Given the description of an element on the screen output the (x, y) to click on. 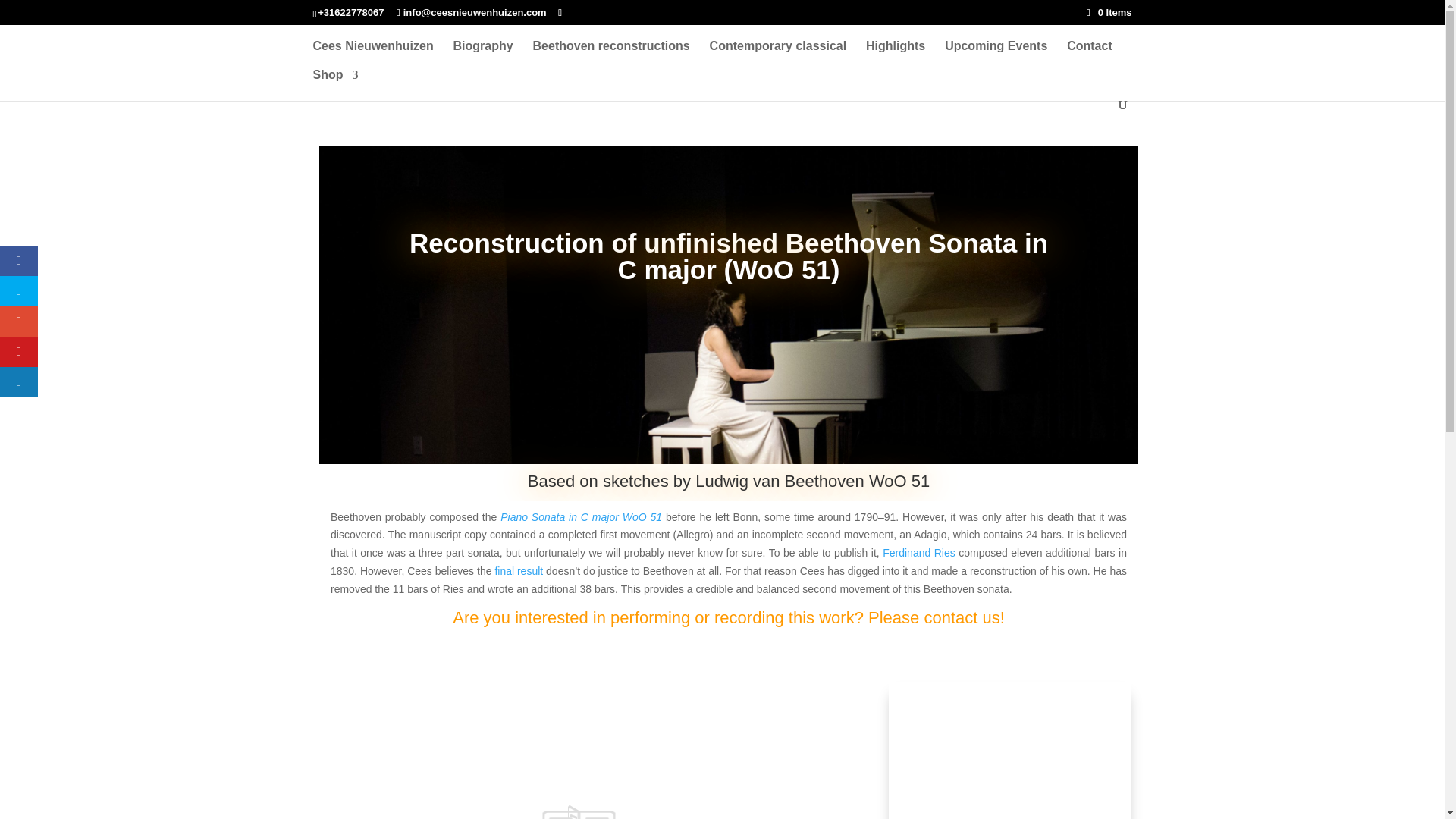
Ferdinand Ries (918, 552)
Contact (1089, 54)
Biography (482, 54)
contact us! (963, 617)
final result (519, 571)
WoO 51 Ferdinand Ries version (519, 571)
Highlights (895, 54)
Cees Nieuwenhuizen (372, 54)
Contemporary classical (778, 54)
Piano Sonata in C major WoO 51 (581, 517)
Beethoven reconstructions (611, 54)
Shop (335, 83)
Upcoming Events (995, 54)
0 Items (1109, 12)
